Given the description of an element on the screen output the (x, y) to click on. 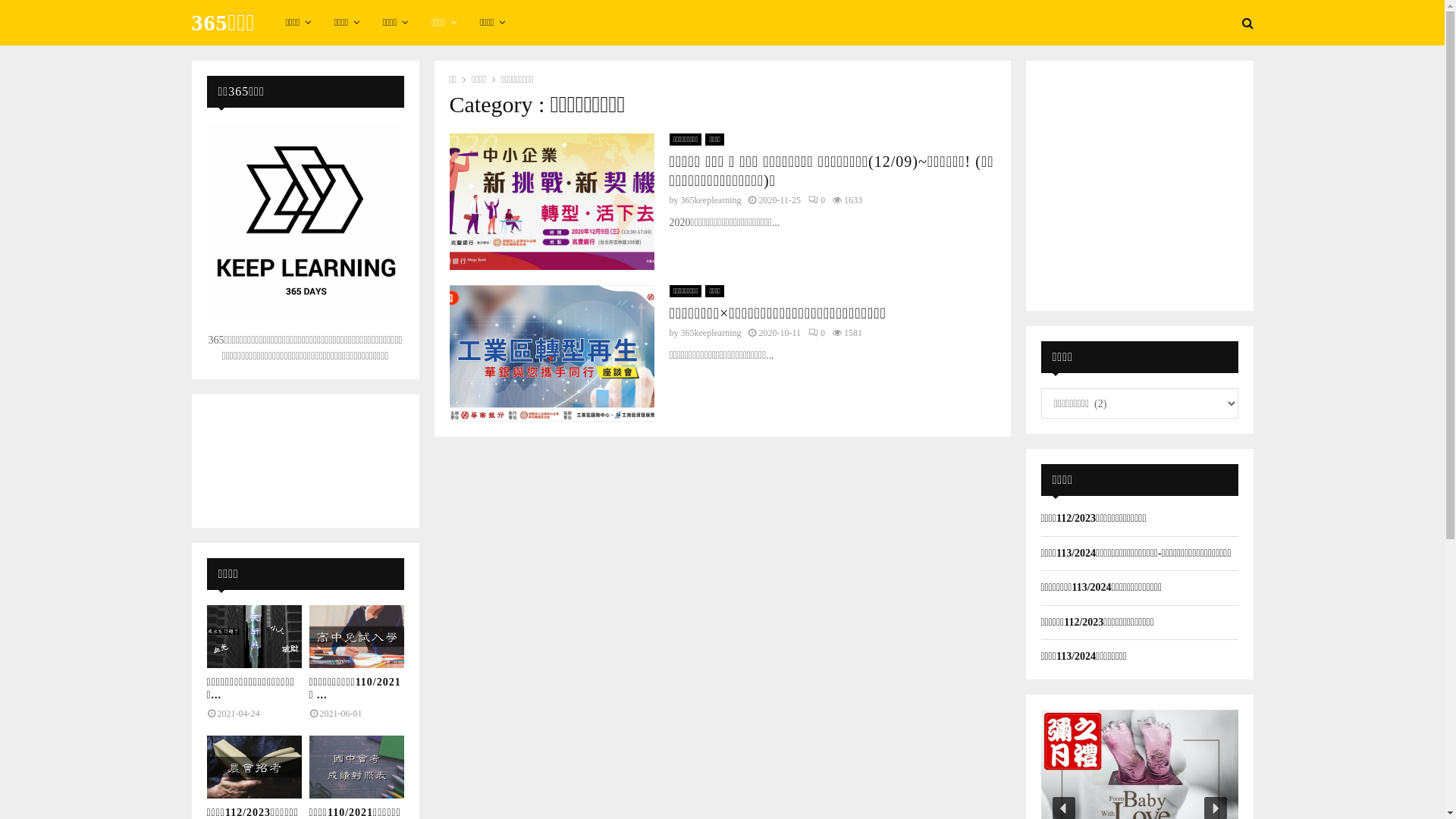
0 Element type: text (816, 332)
2020-10-11 Element type: text (779, 332)
0 Element type: text (816, 199)
Advertisement Element type: hover (1139, 183)
365keeplearning Element type: text (710, 199)
365keeplearning Element type: text (710, 332)
2020-11-25 Element type: text (779, 199)
